Given the description of an element on the screen output the (x, y) to click on. 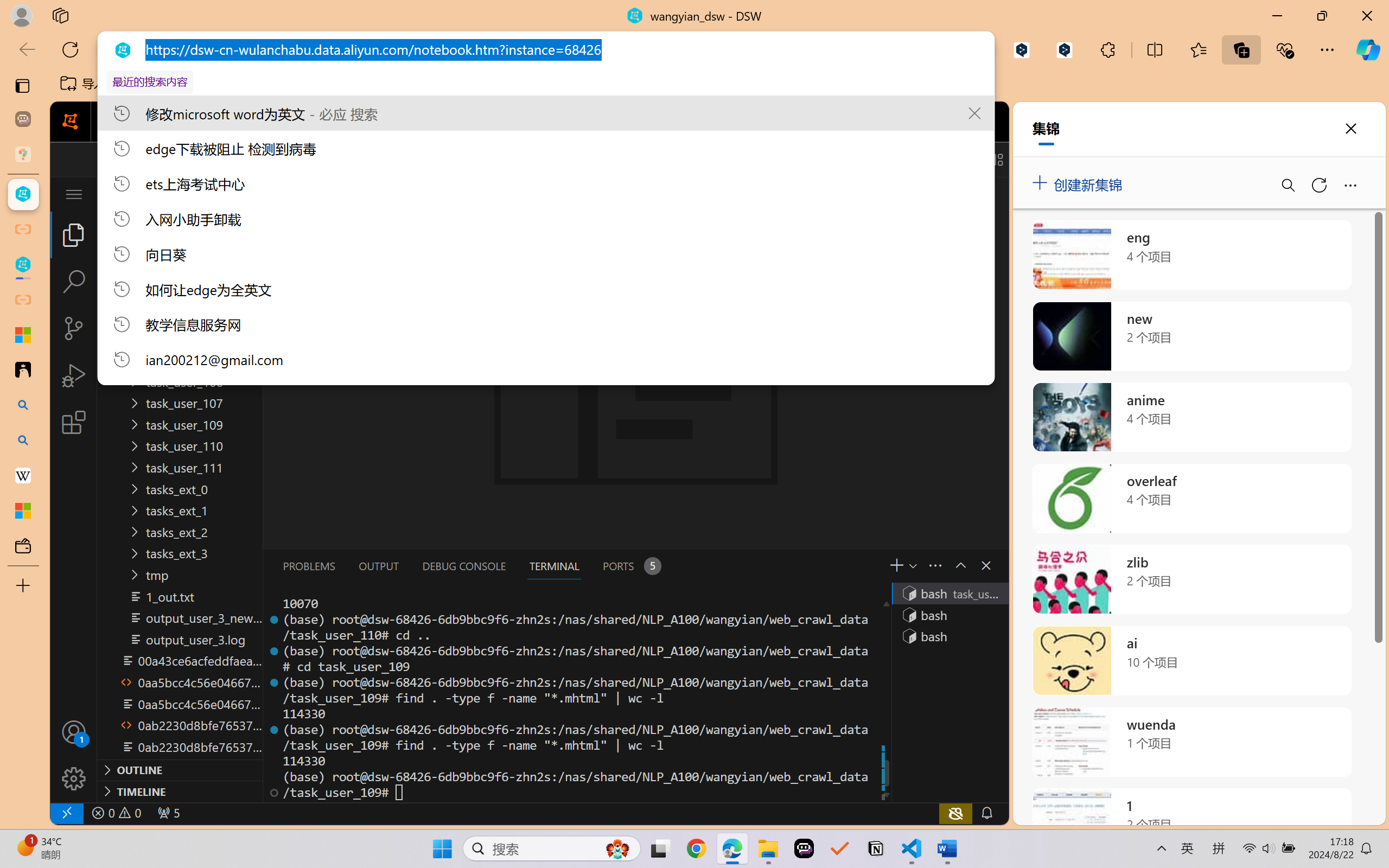
Explorer (Ctrl+Shift+E) (73, 234)
Go Back (Alt+LeftArrow) (329, 159)
Earth - Wikipedia (22, 475)
Gmail (345, 83)
Source Control (Ctrl+Shift+G) (73, 328)
Ports - 5 forwarded ports (630, 565)
